Given the description of an element on the screen output the (x, y) to click on. 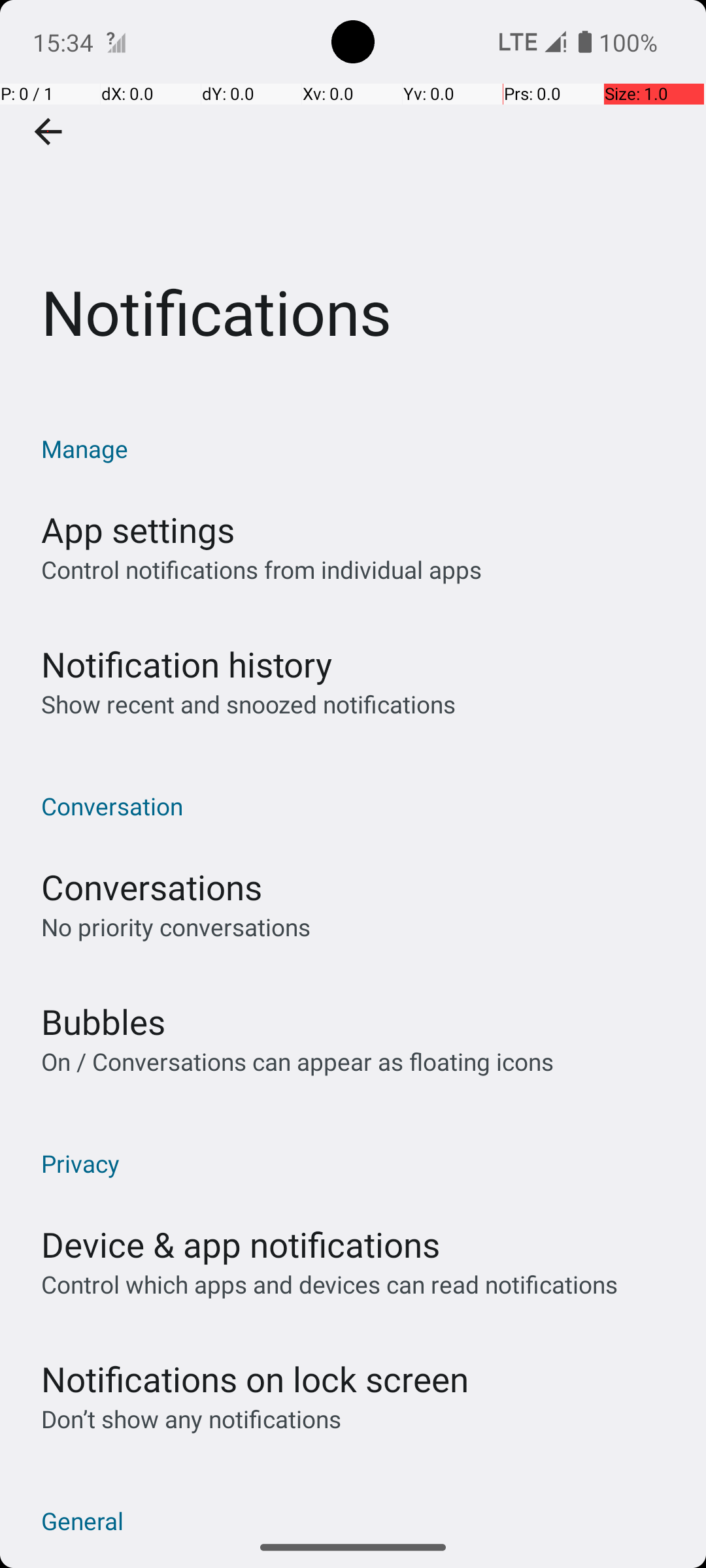
Don’t show any notifications Element type: android.widget.TextView (191, 1418)
